Given the description of an element on the screen output the (x, y) to click on. 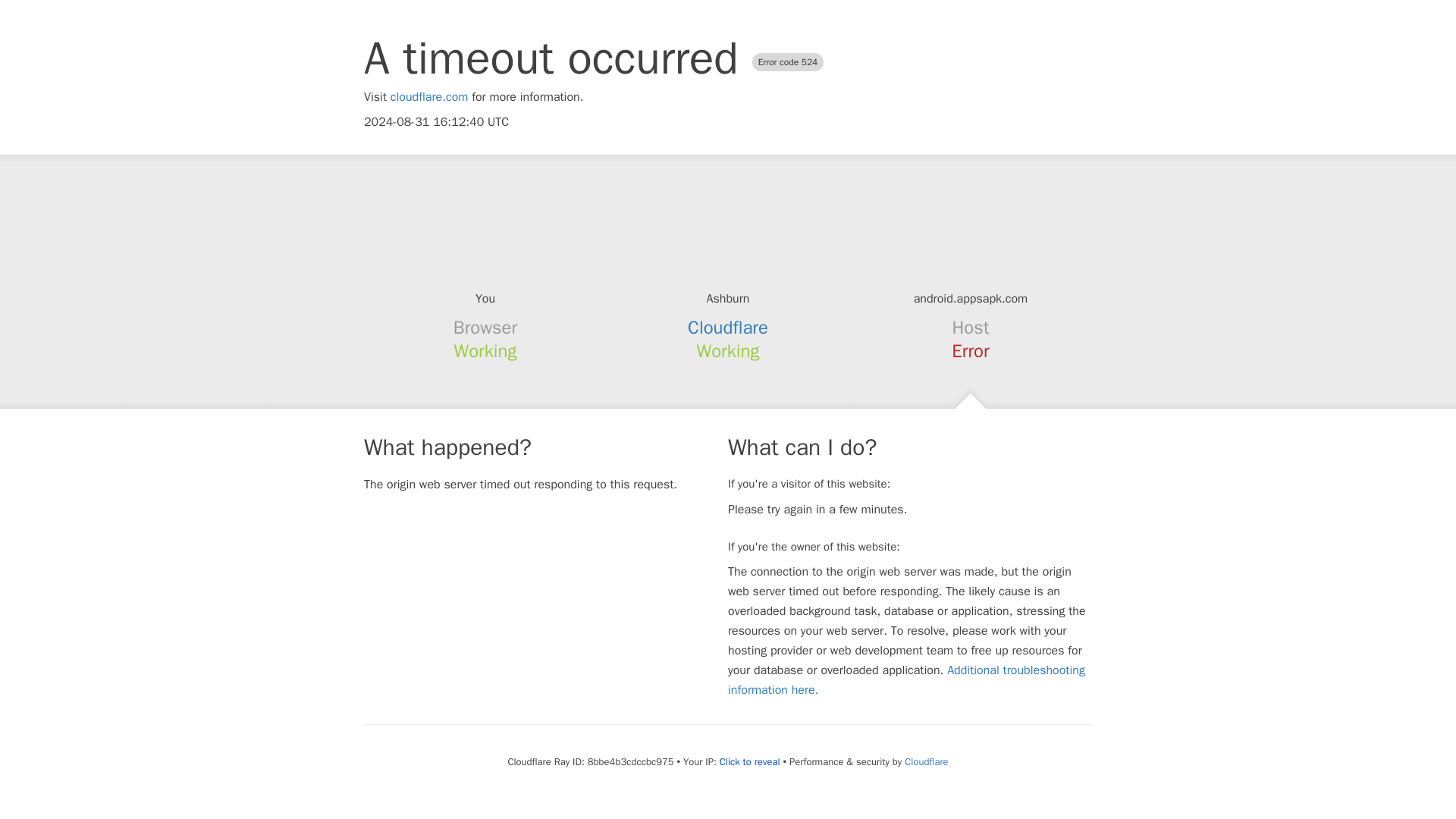
cloudflare.com (429, 96)
Additional troubleshooting information here. (906, 679)
Click to reveal (749, 762)
Cloudflare (727, 327)
Cloudflare (925, 761)
